Given the description of an element on the screen output the (x, y) to click on. 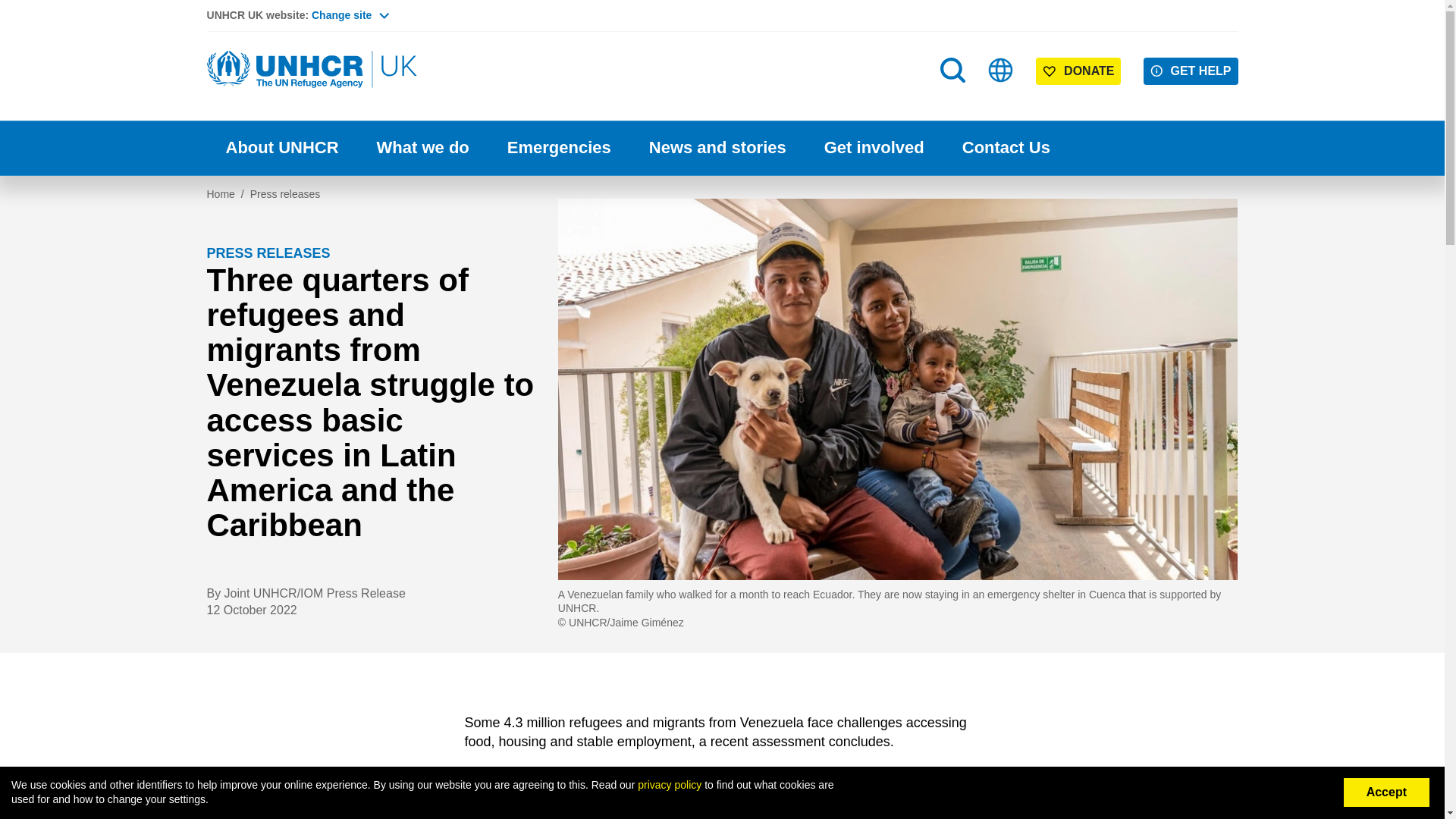
Skip to main content (721, 1)
About UNHCR (281, 148)
Change site (349, 15)
DONATE (1078, 71)
Sites (1000, 69)
Search (952, 69)
GET HELP (1189, 71)
Home (312, 69)
Search (954, 99)
